Given the description of an element on the screen output the (x, y) to click on. 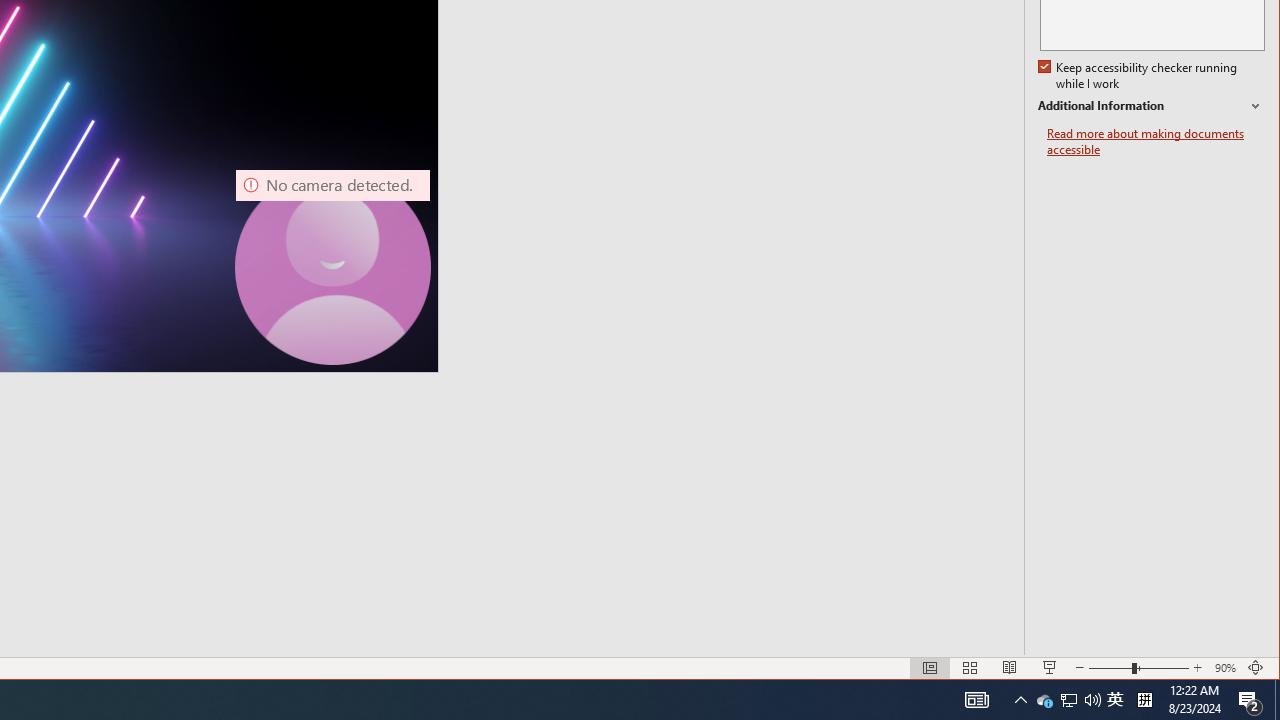
Zoom 90% (1225, 668)
Camera 7, No camera detected. (333, 267)
